Given the description of an element on the screen output the (x, y) to click on. 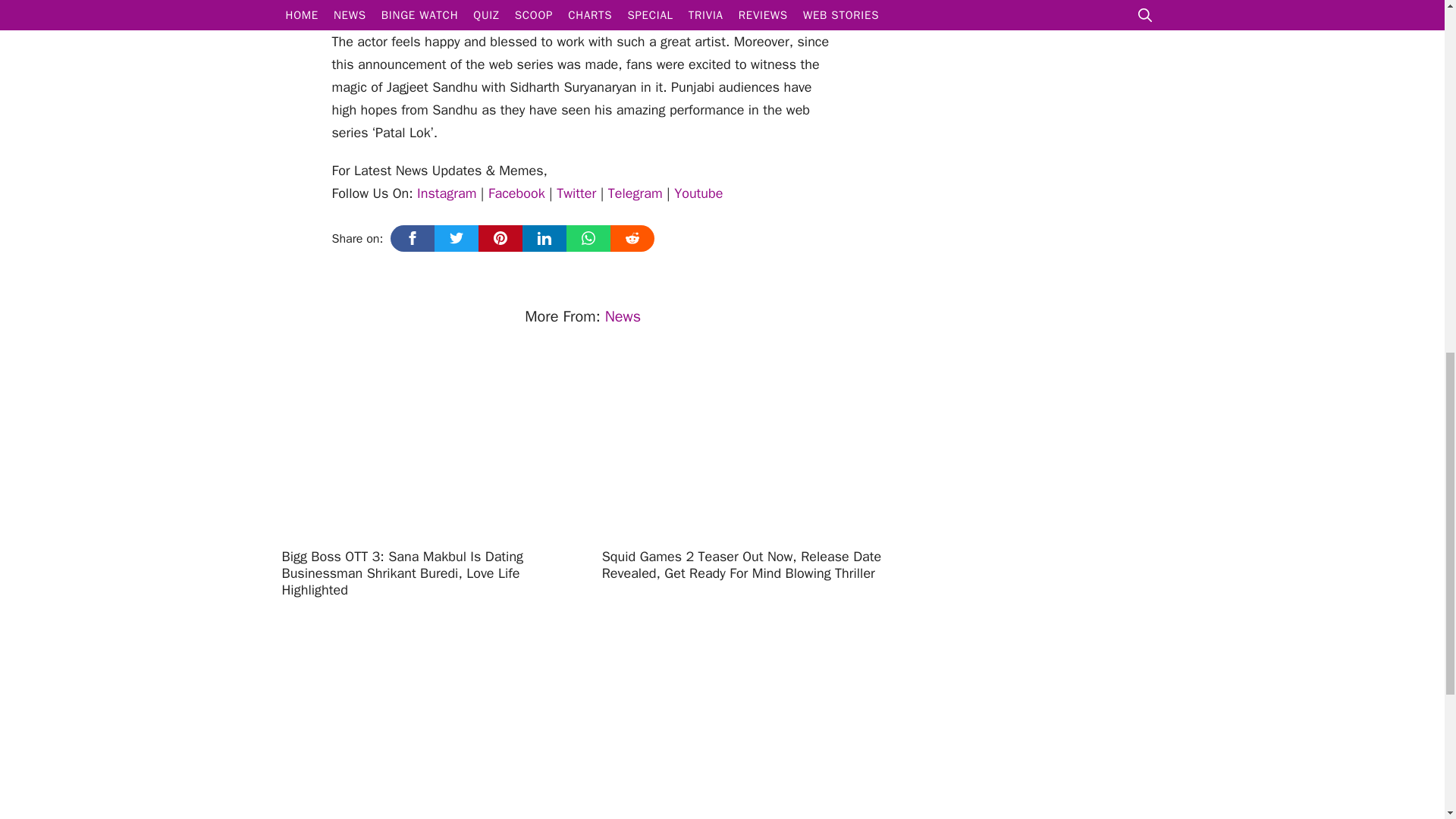
Facebook (515, 193)
Twitter (575, 193)
Telegram (635, 193)
Instagram (446, 193)
Youtube (698, 193)
